Given the description of an element on the screen output the (x, y) to click on. 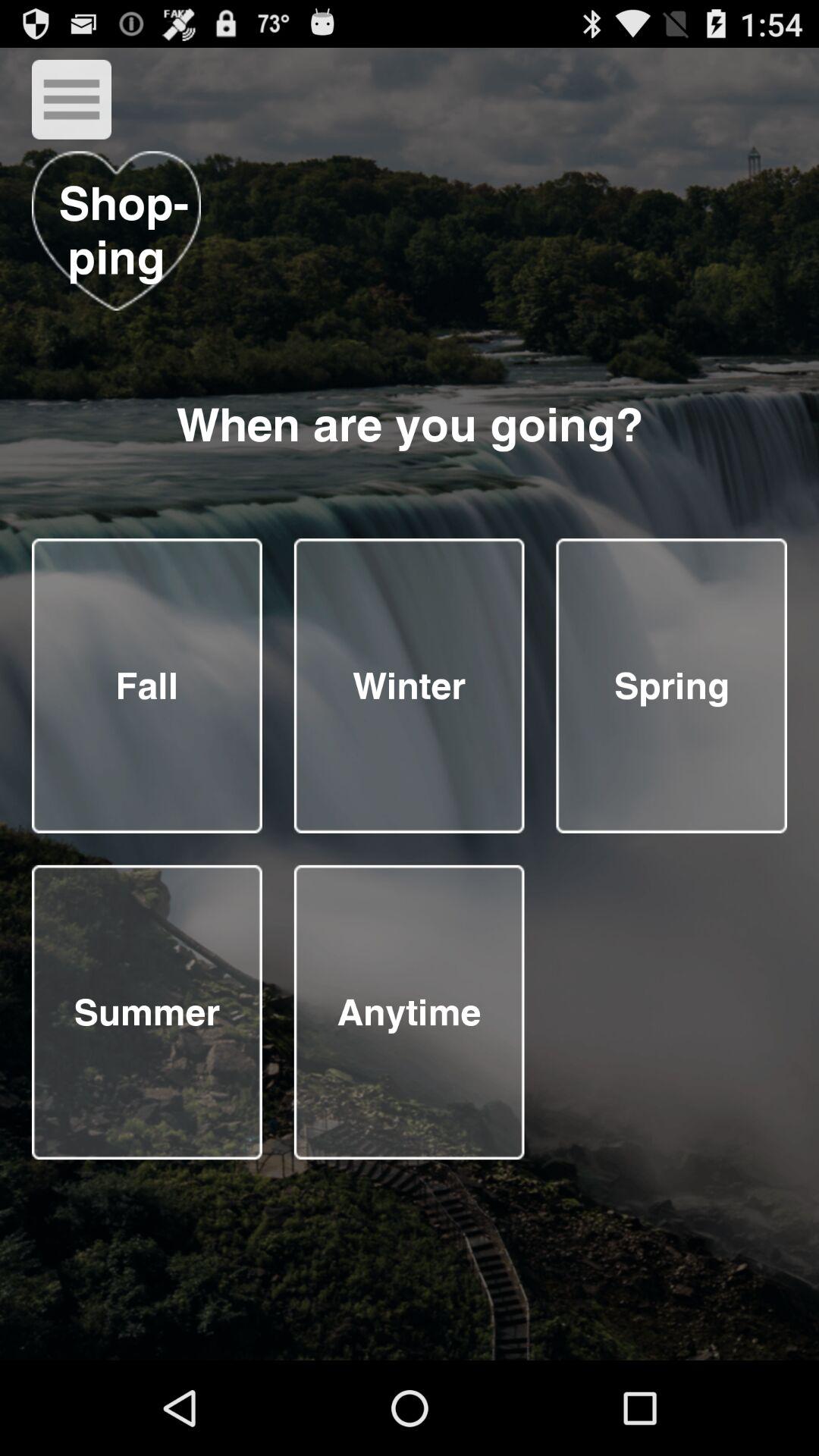
select the fall season (146, 685)
